Given the description of an element on the screen output the (x, y) to click on. 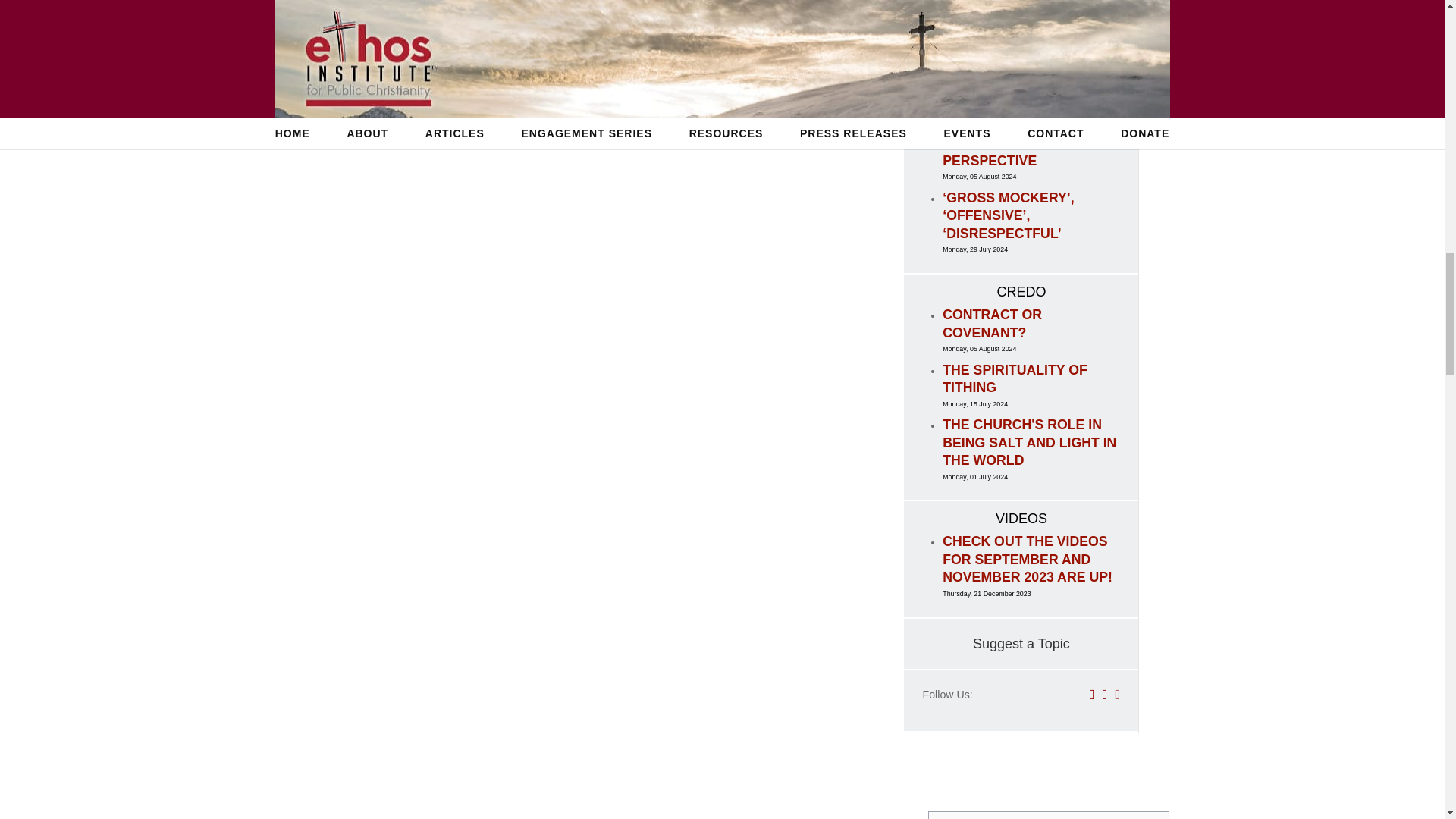
CONTRACT OR COVENANT? (992, 323)
A FINE-TUNED AND DESIGNED UNIVERSE (1013, 16)
